Given the description of an element on the screen output the (x, y) to click on. 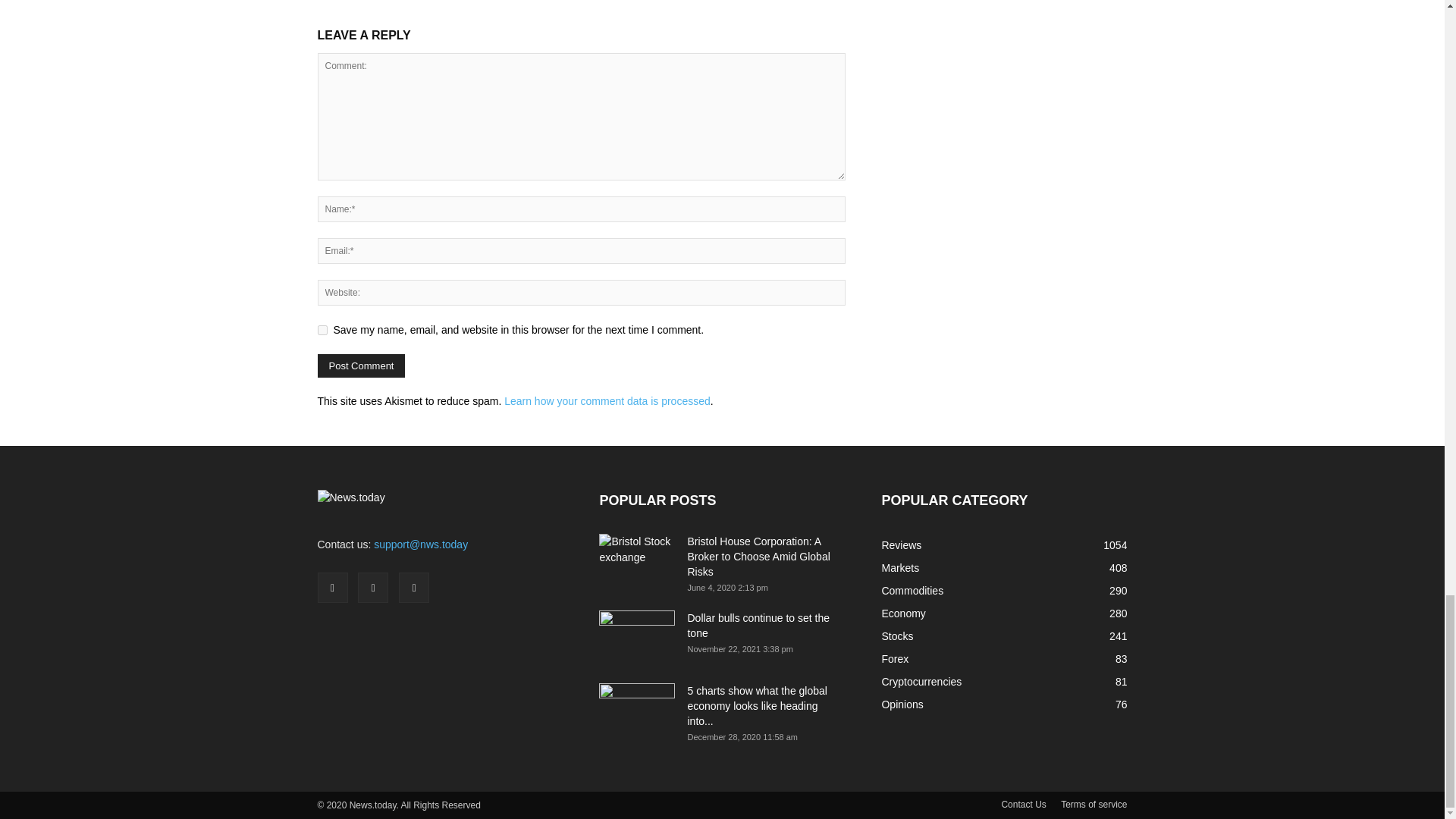
Post Comment (360, 365)
yes (321, 329)
